Given the description of an element on the screen output the (x, y) to click on. 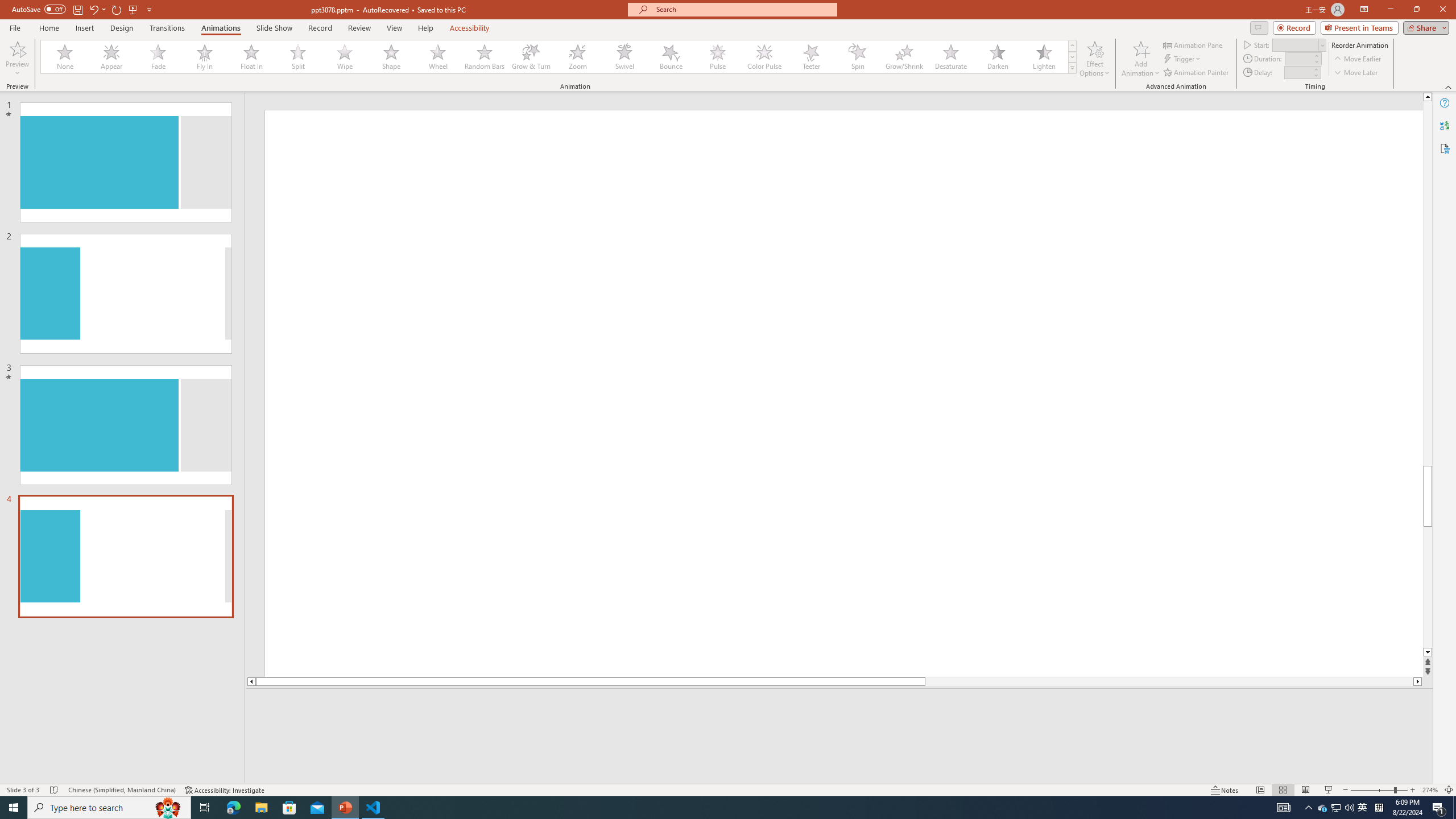
Fly In (205, 56)
Pulse (717, 56)
Effect Options (1094, 58)
Appear (111, 56)
Teeter (810, 56)
